Given the description of an element on the screen output the (x, y) to click on. 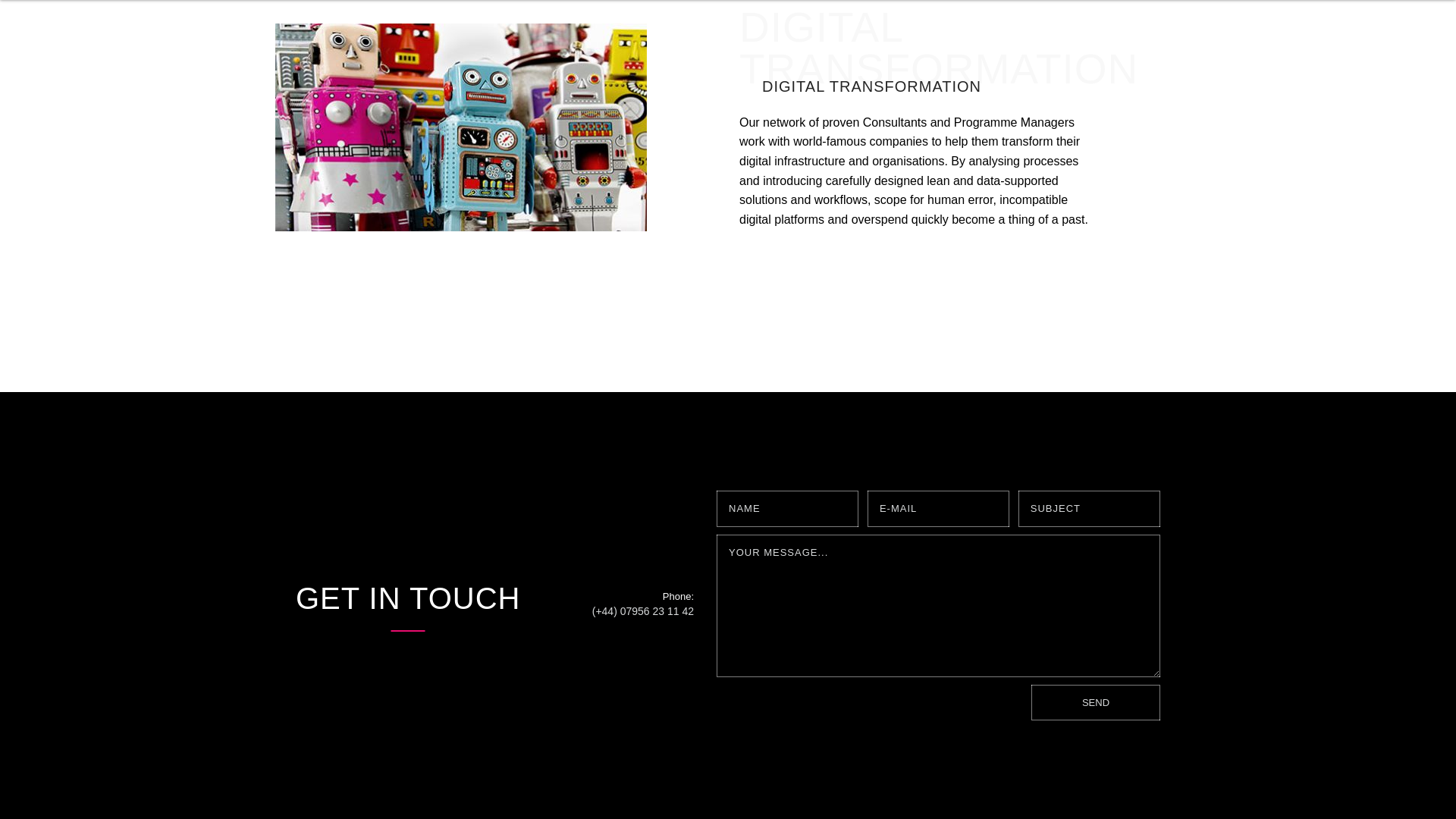
Send (1095, 702)
